Given the description of an element on the screen output the (x, y) to click on. 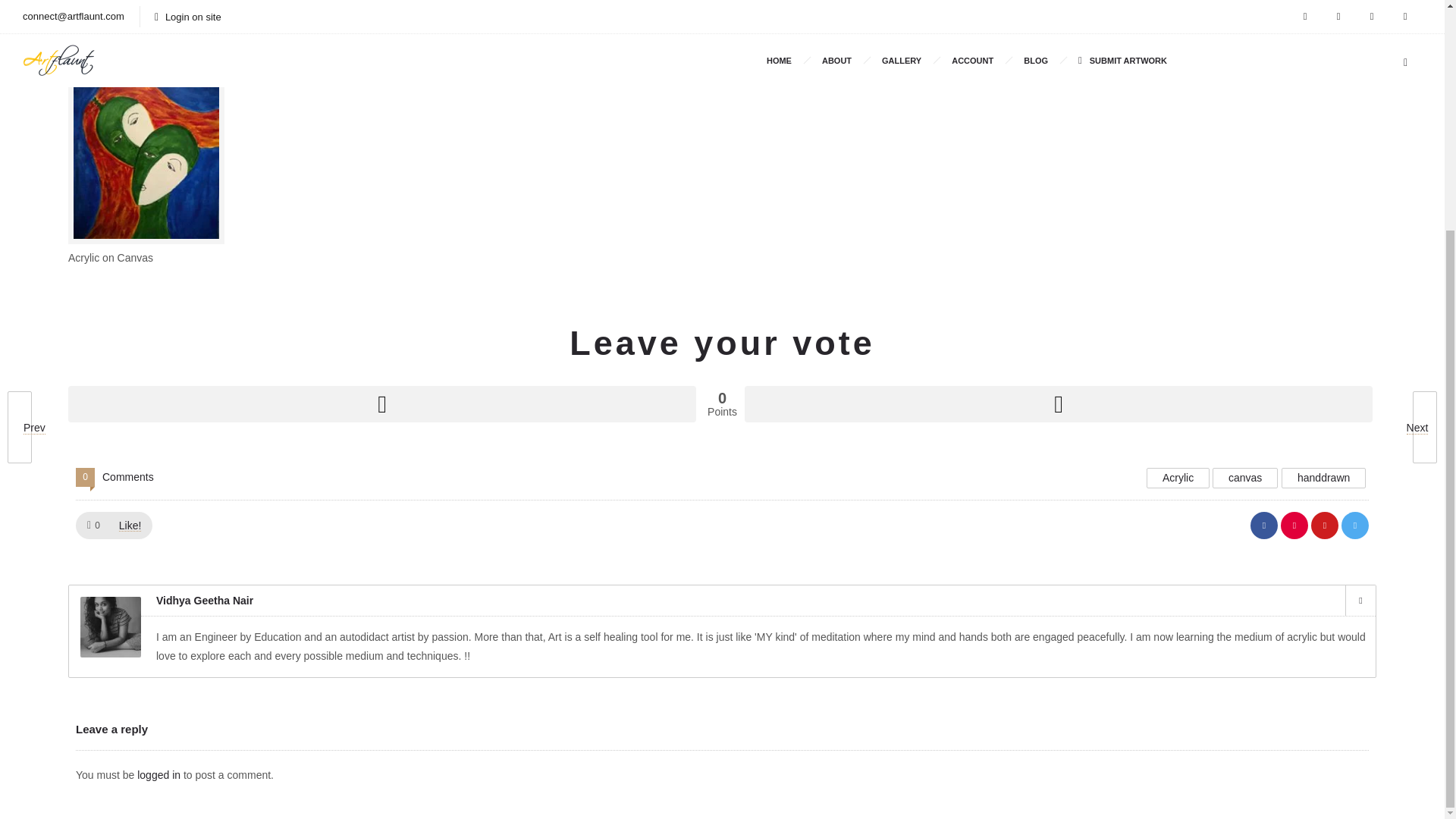
Downvote (1058, 403)
Vidhya Geetha Nair (198, 14)
Facebook (1360, 600)
Upvote (381, 403)
